Given the description of an element on the screen output the (x, y) to click on. 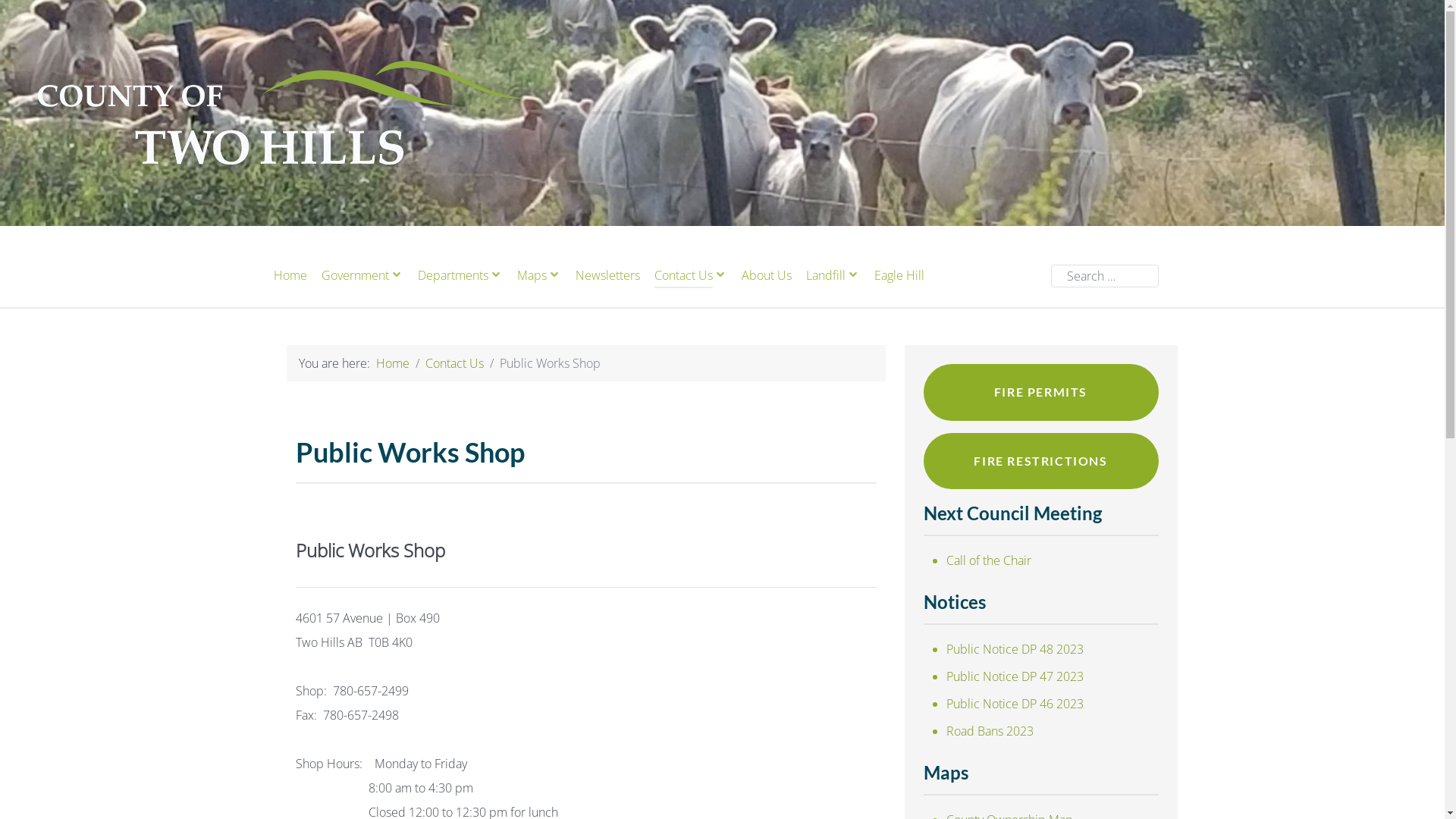
Landfill Element type: text (832, 275)
Government Element type: text (362, 275)
FIRE PERMITS Element type: text (1040, 392)
Public Notice DP 46 2023 Element type: text (1014, 703)
Eagle Hill Element type: text (898, 275)
Contact Us Element type: text (453, 363)
About Us Element type: text (766, 275)
Maps Element type: text (539, 275)
Road Bans 2023 Element type: text (989, 730)
Departments Element type: text (459, 275)
Newsletters Element type: text (606, 275)
Public Notice DP 47 2023 Element type: text (1014, 676)
FIRE RESTRICTIONS Element type: text (1040, 461)
Call of the Chair Element type: text (988, 560)
Home Element type: text (392, 363)
Contact Us Element type: text (689, 275)
Public Notice DP 48 2023 Element type: text (1014, 648)
Home Element type: text (289, 275)
